Given the description of an element on the screen output the (x, y) to click on. 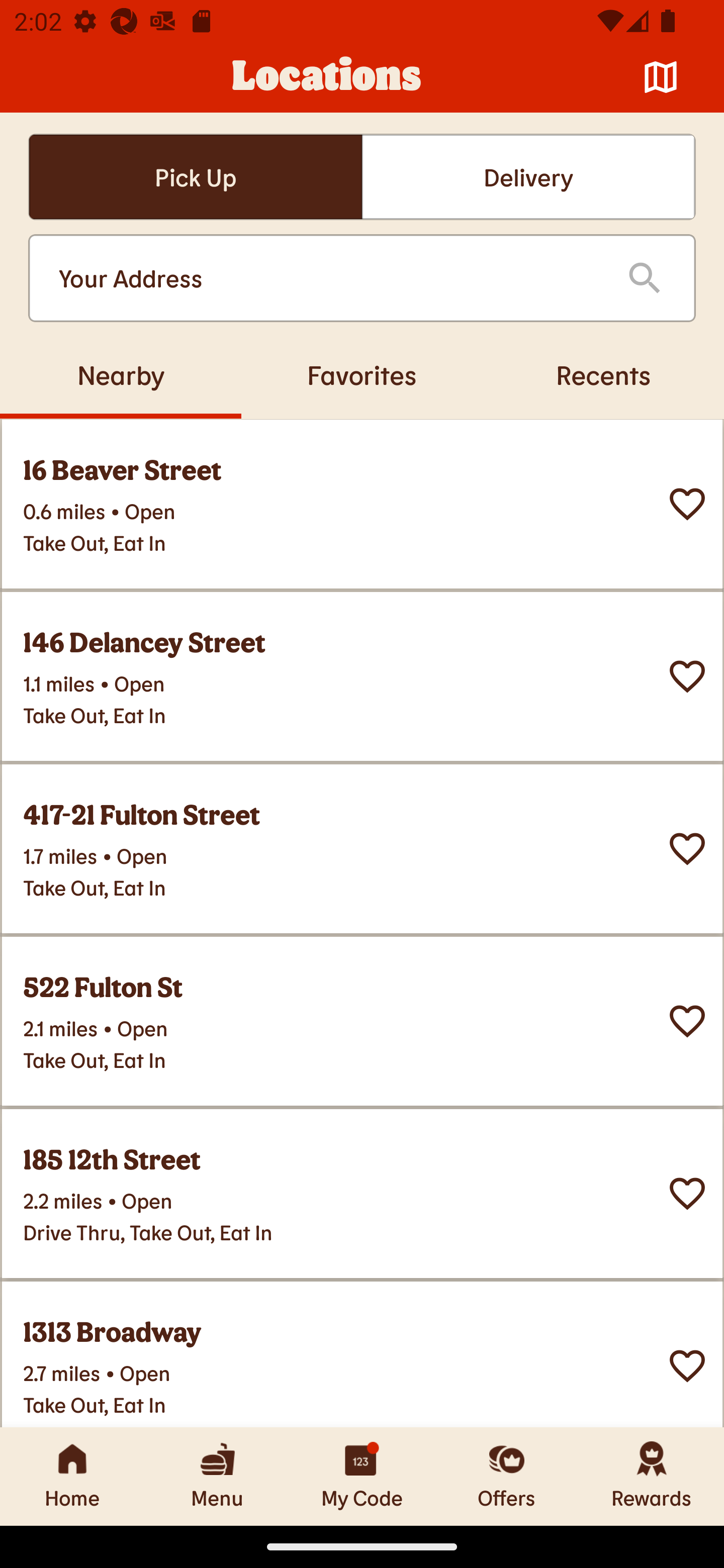
Map 󰦂 (660, 77)
Locations (326, 77)
Pick UpSelected Pick UpSelected Pick Up (195, 176)
Delivery Delivery Delivery (528, 176)
Your Address (327, 277)
Nearby (120, 374)
Favorites (361, 374)
Recents (603, 374)
Set this restaurant as a favorite  (687, 503)
Set this restaurant as a favorite  (687, 676)
Set this restaurant as a favorite  (687, 848)
Set this restaurant as a favorite  (687, 1021)
Set this restaurant as a favorite  (687, 1193)
Set this restaurant as a favorite  (687, 1366)
Home (72, 1475)
Menu (216, 1475)
My Code (361, 1475)
Offers (506, 1475)
Rewards (651, 1475)
